Given the description of an element on the screen output the (x, y) to click on. 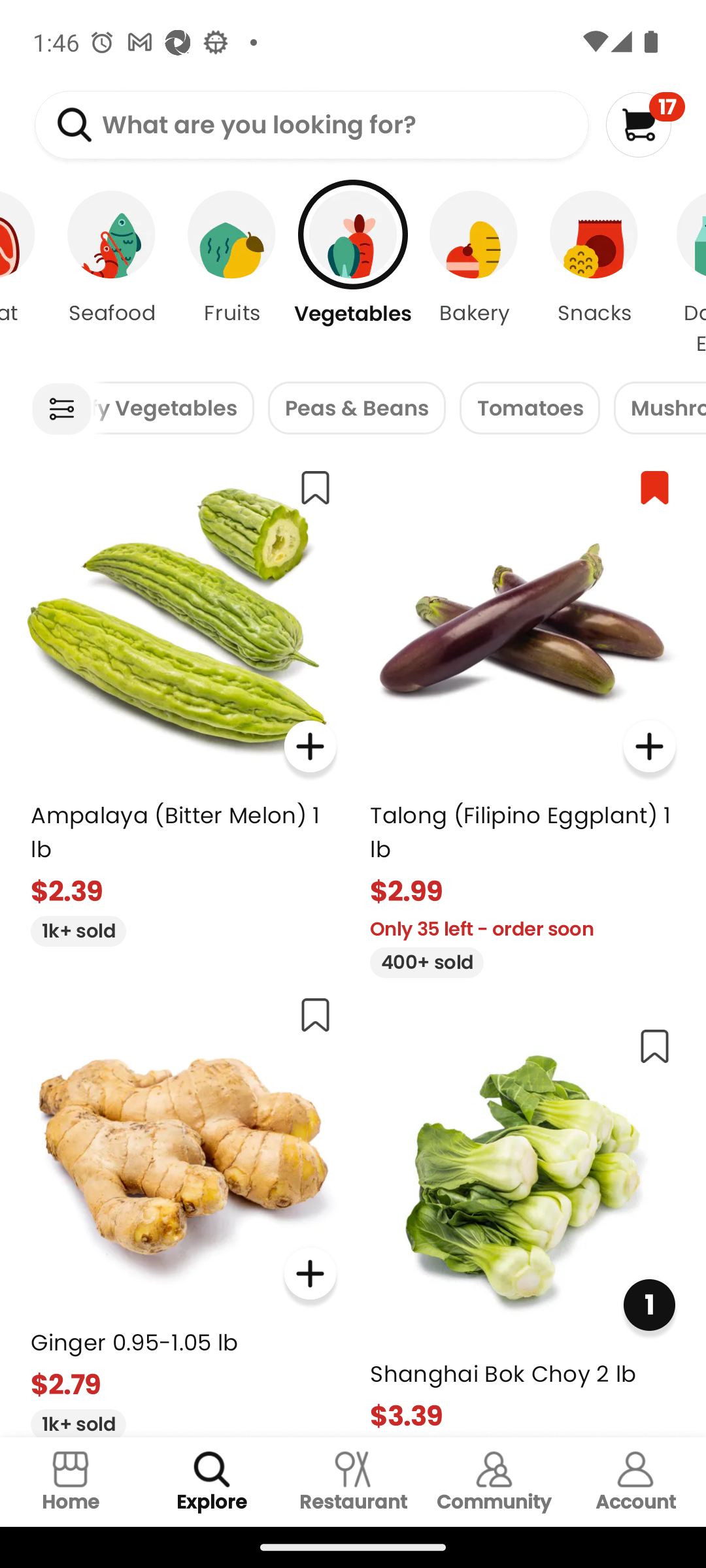
What are you looking for? (311, 124)
17 (644, 124)
Seafood (111, 274)
Fruits (232, 274)
Vegetables (352, 274)
Bakery (473, 274)
Snacks (593, 274)
Leafy Vegetables (173, 407)
Peas & Beans (356, 407)
Tomatoes (529, 407)
Mushrooms (659, 407)
Ampalaya (Bitter Melon) 1 lb $2.39 1k+ sold (182, 700)
Ginger 0.95-1.05 lb $2.79 1k+ sold (182, 1208)
1 Shanghai Bok Choy 2 lb $3.39 (522, 1224)
1 (648, 1305)
Home (70, 1482)
Explore (211, 1482)
Restaurant (352, 1482)
Community (493, 1482)
Account (635, 1482)
